Given the description of an element on the screen output the (x, y) to click on. 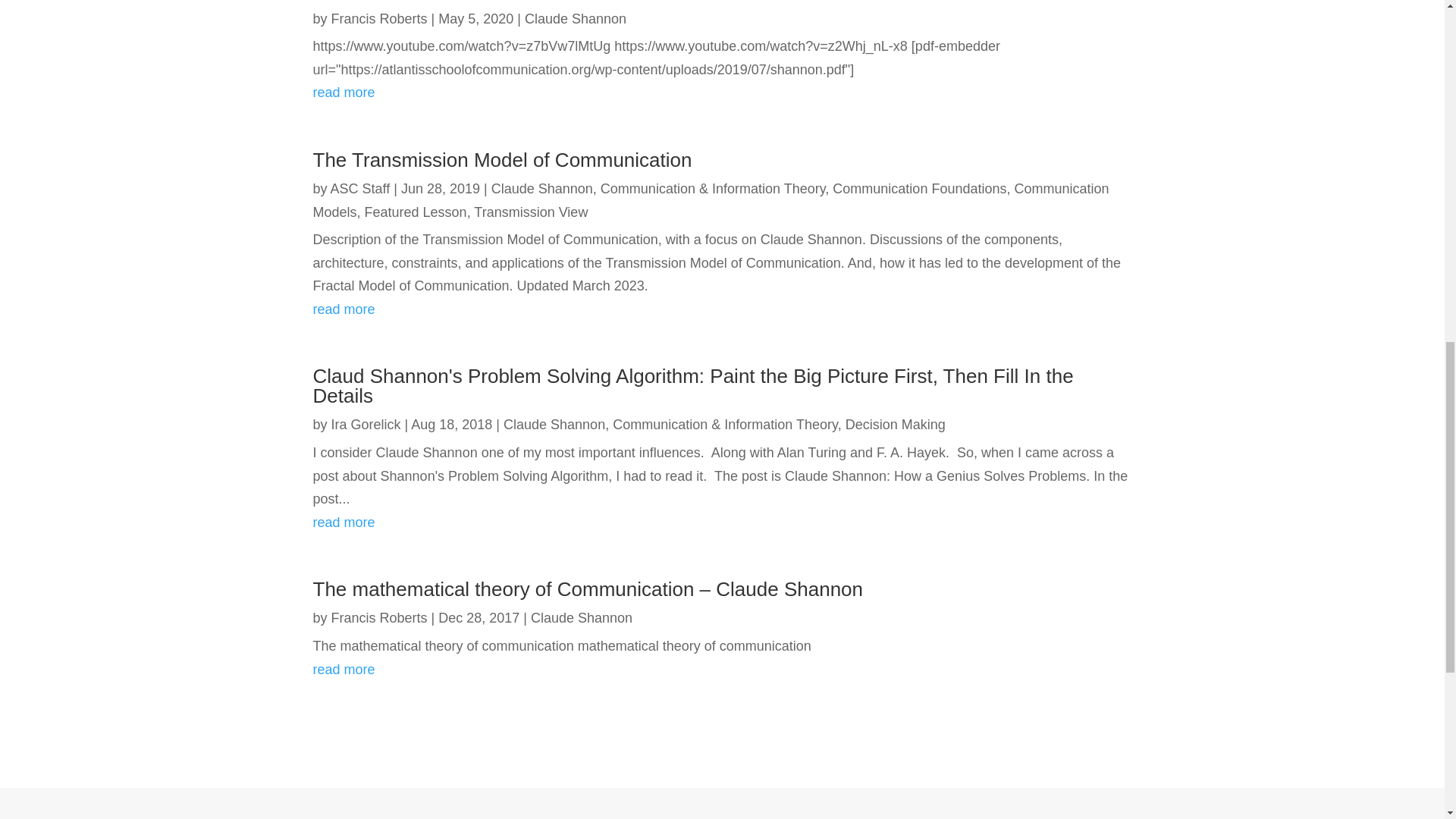
read more (722, 92)
Posts by Francis Roberts (379, 617)
Posts by Ira Gorelick (366, 424)
Posts by ASC Staff (360, 188)
Claude Shannon (575, 18)
Posts by Francis Roberts (379, 18)
Francis Roberts (379, 18)
